Given the description of an element on the screen output the (x, y) to click on. 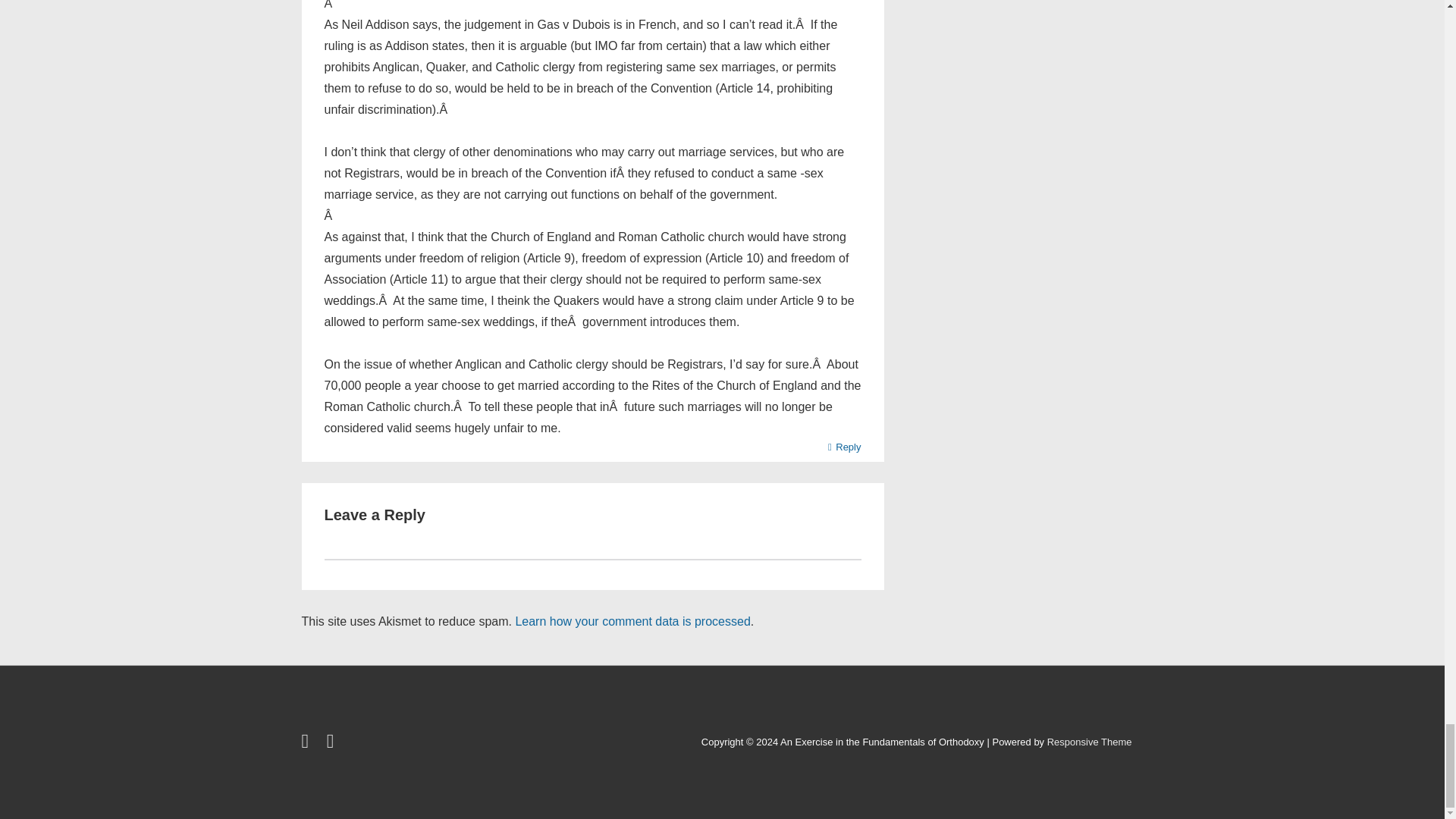
twitter (308, 743)
rss (331, 743)
